Given the description of an element on the screen output the (x, y) to click on. 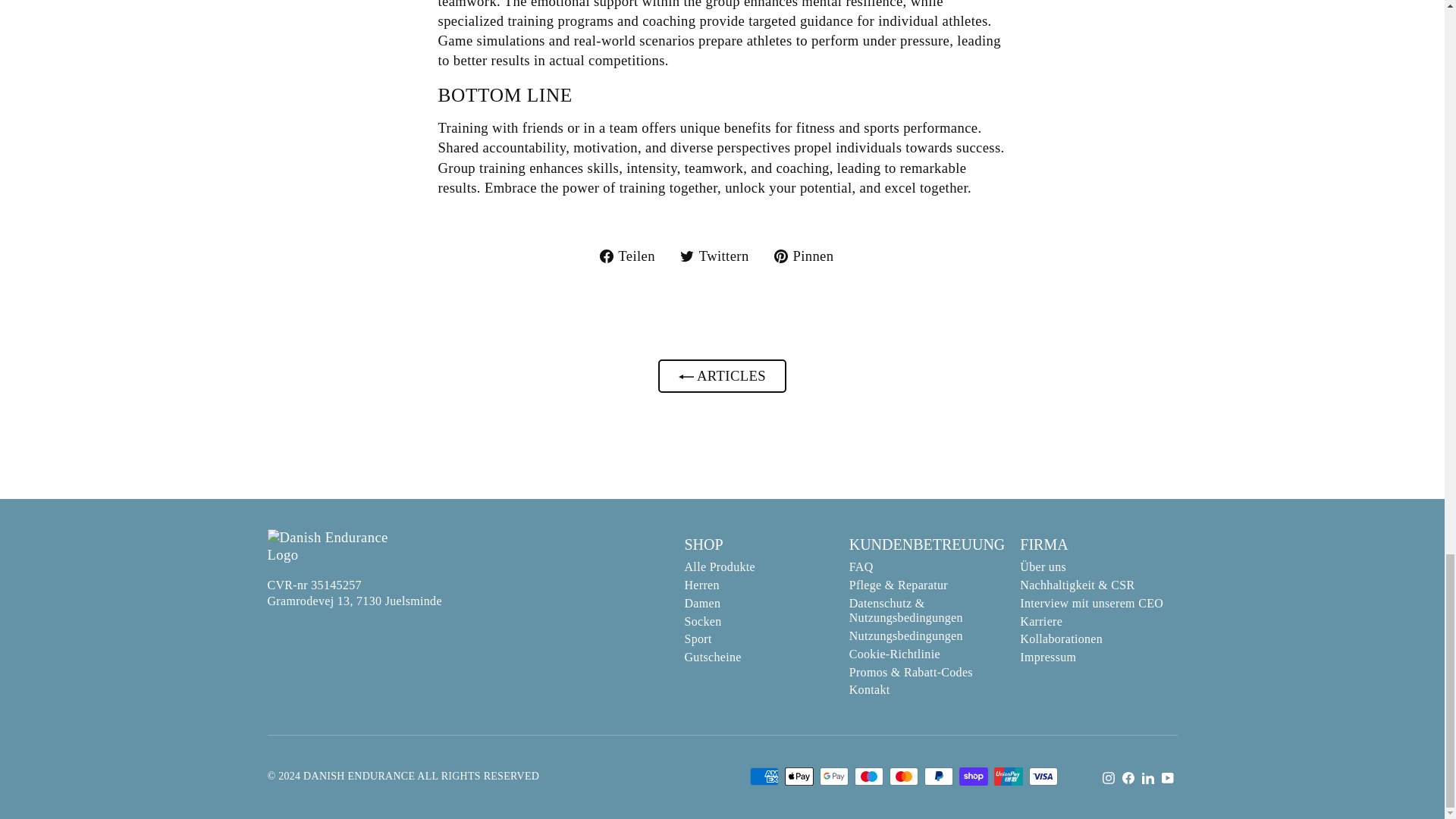
DANISH ENDURANCE auf Instagram (1108, 778)
American Express (763, 776)
DANISH ENDURANCE auf YouTube (1167, 778)
Mastercard (902, 776)
Auf Twitter teilen (719, 255)
Maestro (867, 776)
Auf Facebook teilen (632, 255)
DANISH ENDURANCE auf LinkedIn (1147, 778)
DANISH ENDURANCE auf Facebook (1128, 778)
Union Pay (1007, 776)
Visa (1042, 776)
Google Pay (832, 776)
Apple Pay (798, 776)
PayPal (937, 776)
Shop Pay (972, 776)
